Given the description of an element on the screen output the (x, y) to click on. 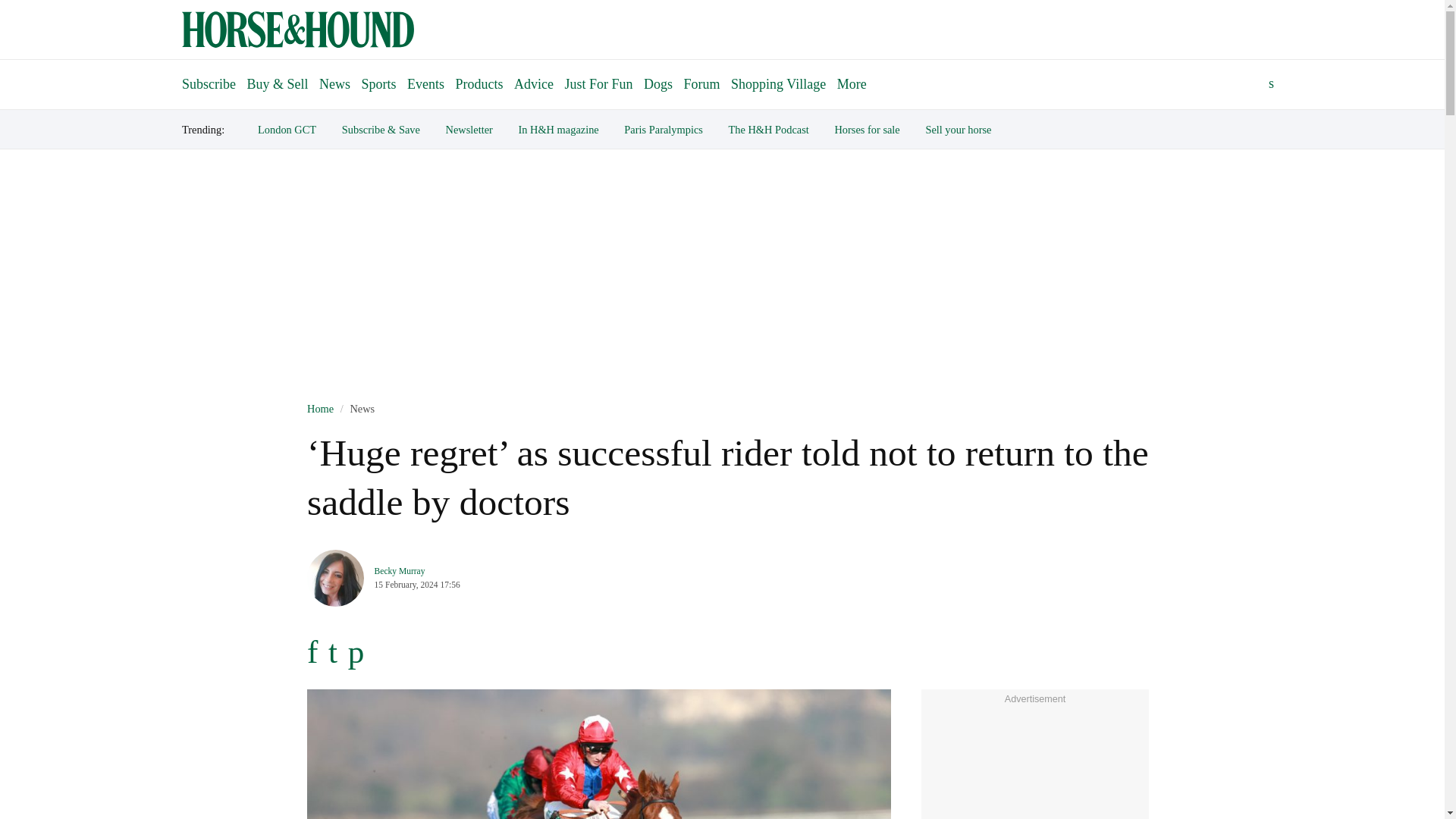
Advice (534, 83)
Subscribe (208, 77)
Events (425, 83)
Products (478, 83)
